Given the description of an element on the screen output the (x, y) to click on. 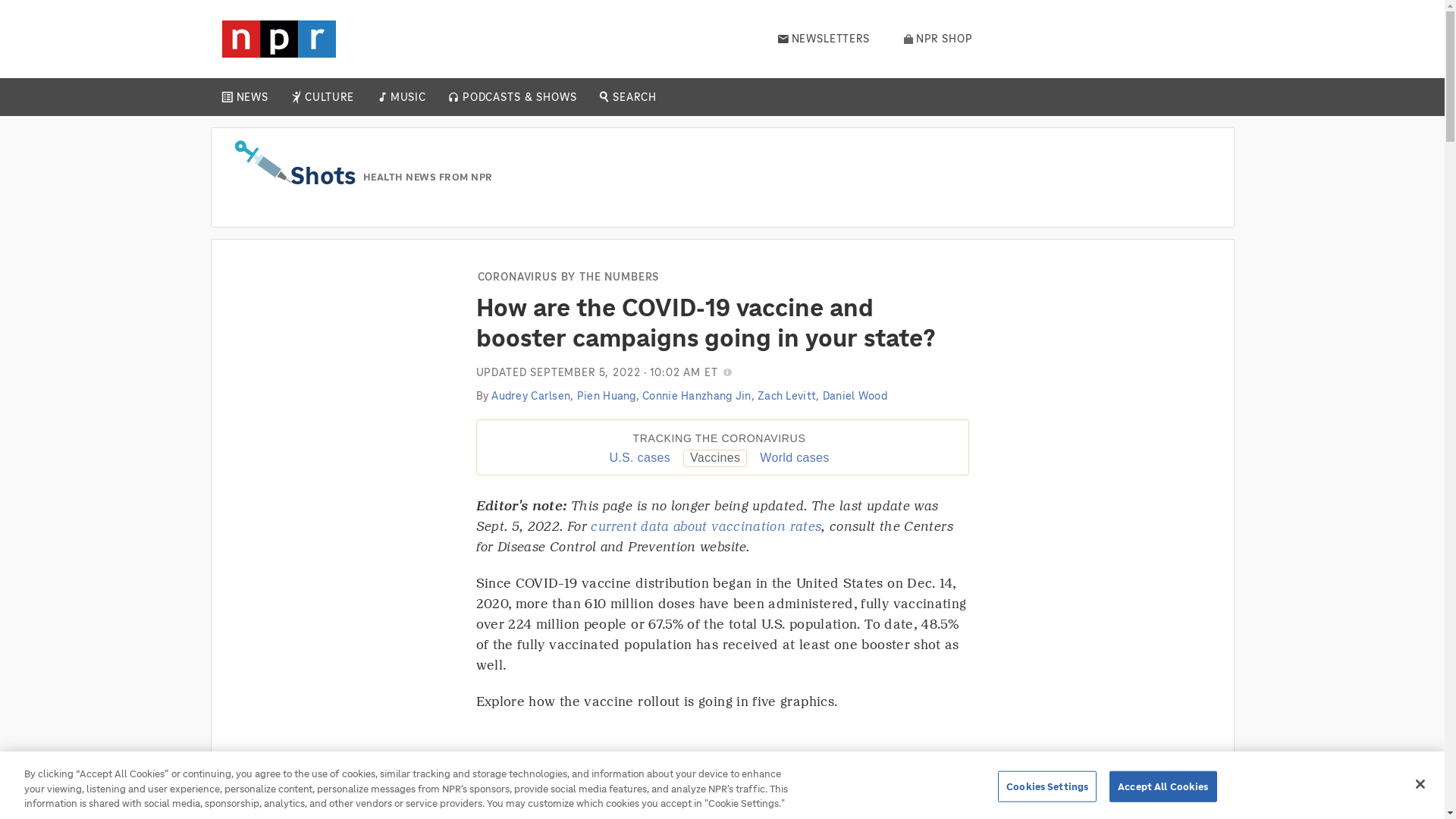
MUSIC (407, 96)
NEWS (251, 96)
NPR SHOP (938, 38)
CULTURE (328, 96)
NEWSLETTERS (823, 38)
